Given the description of an element on the screen output the (x, y) to click on. 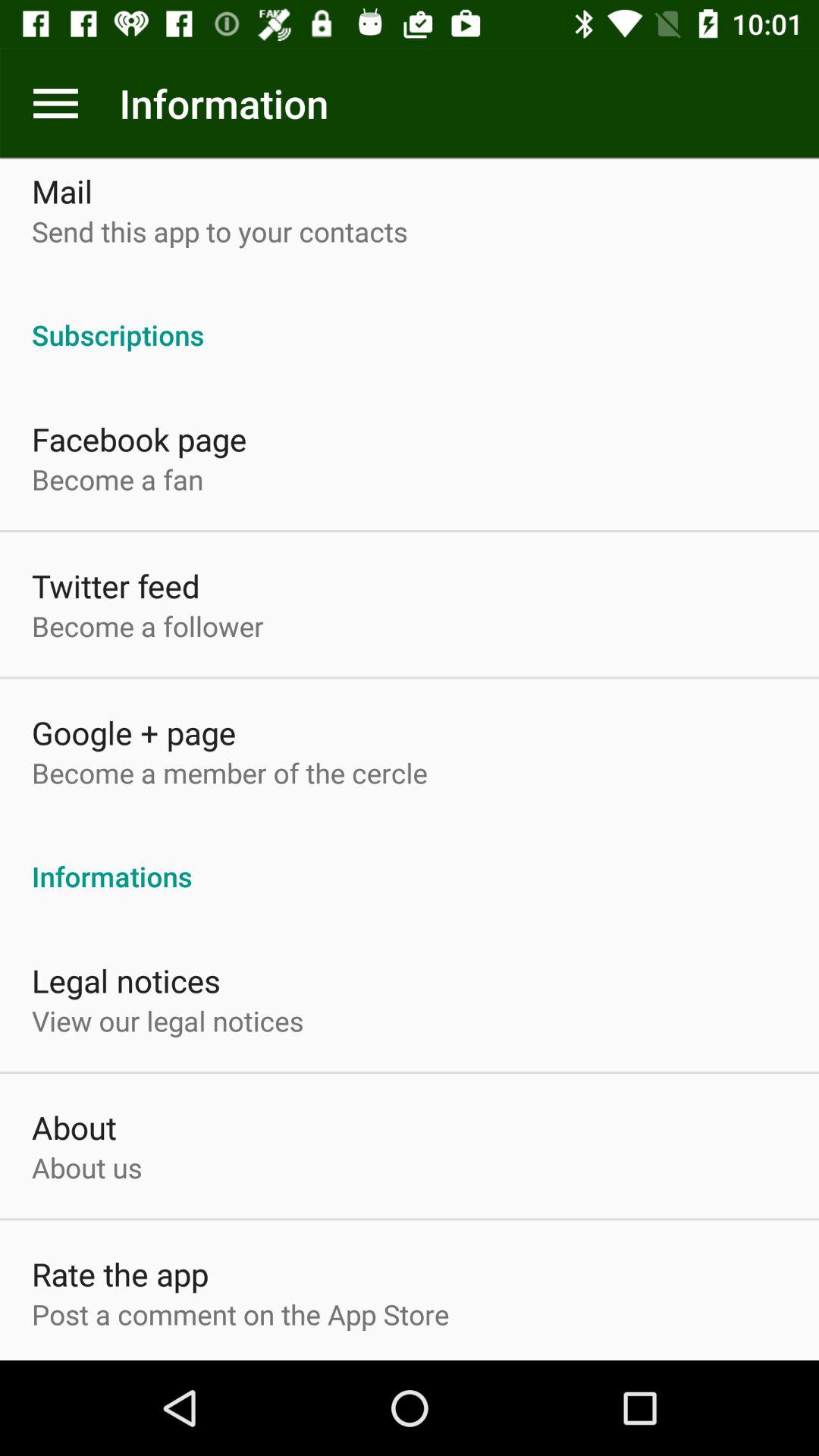
information app (55, 103)
